Given the description of an element on the screen output the (x, y) to click on. 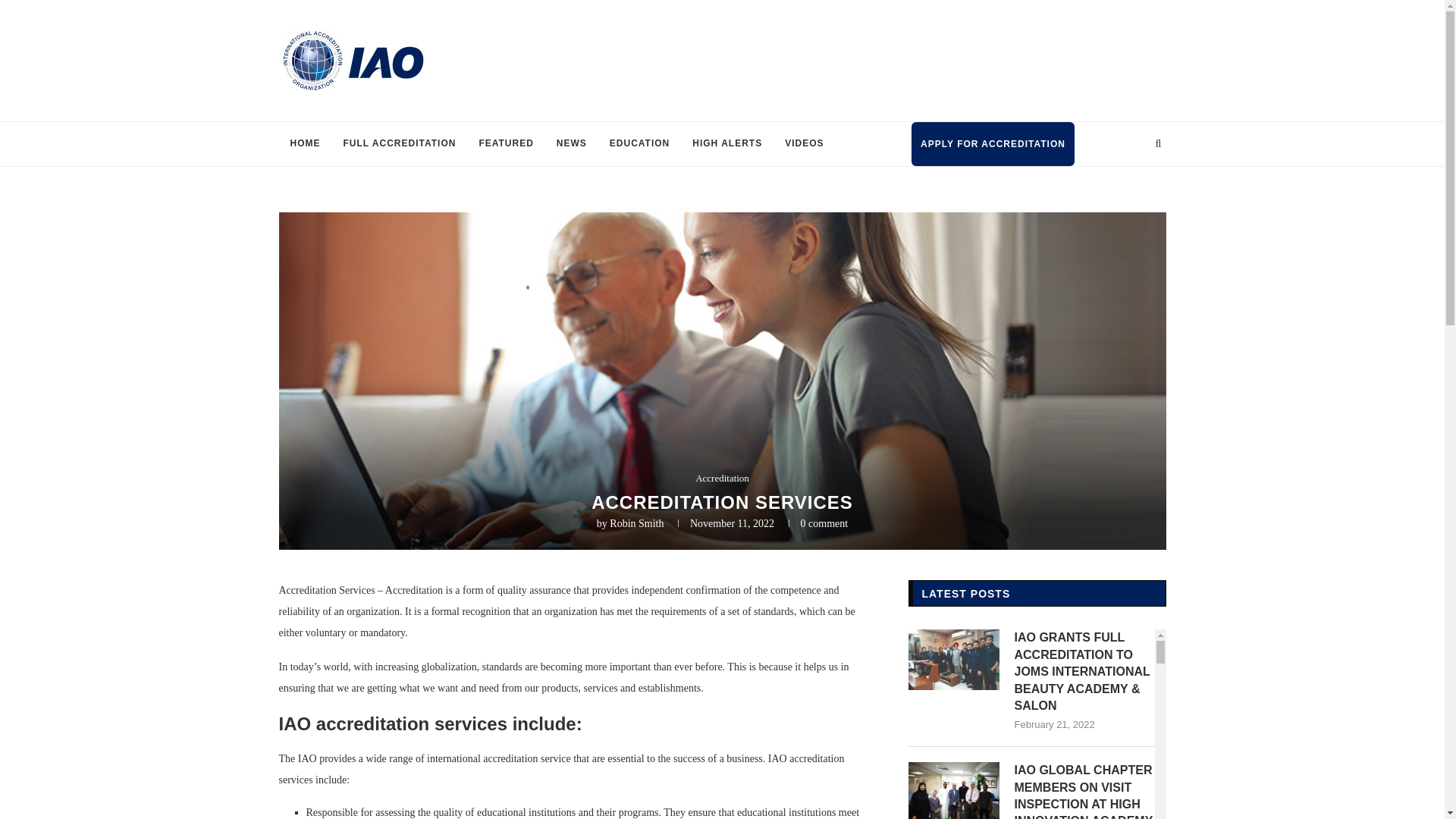
APPLY FOR ACCREDITATION (992, 144)
Accreditation (722, 478)
Robin Smith (636, 523)
VIDEOS (803, 144)
HIGH ALERTS (727, 144)
FEATURED (505, 144)
HOME (305, 144)
NEWS (571, 144)
EDUCATION (639, 144)
FULL ACCREDITATION (399, 144)
